Given the description of an element on the screen output the (x, y) to click on. 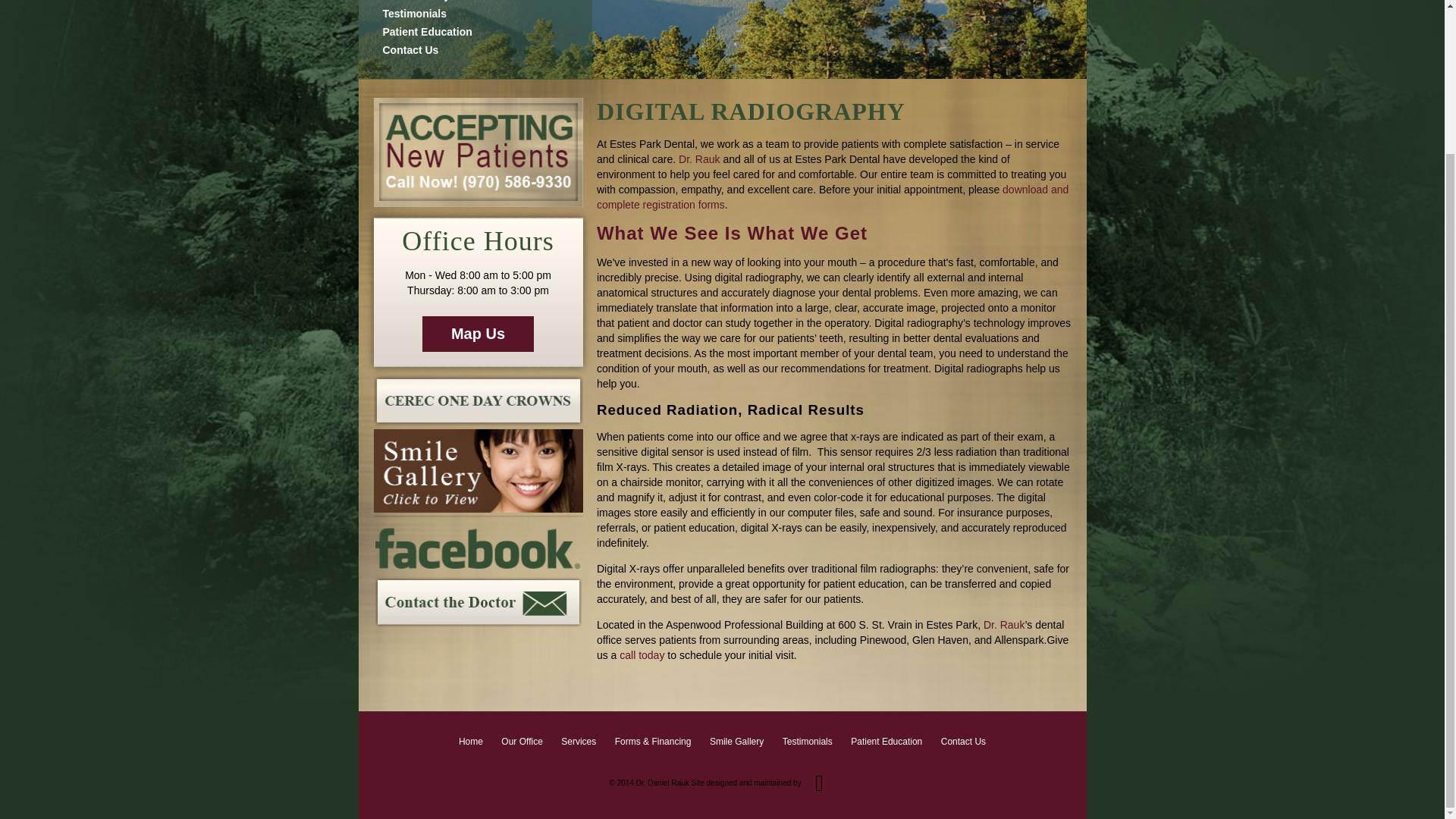
Testimonials (413, 13)
Smile Gallery (415, 0)
Contact Us (409, 50)
Patient Education (426, 31)
